Given the description of an element on the screen output the (x, y) to click on. 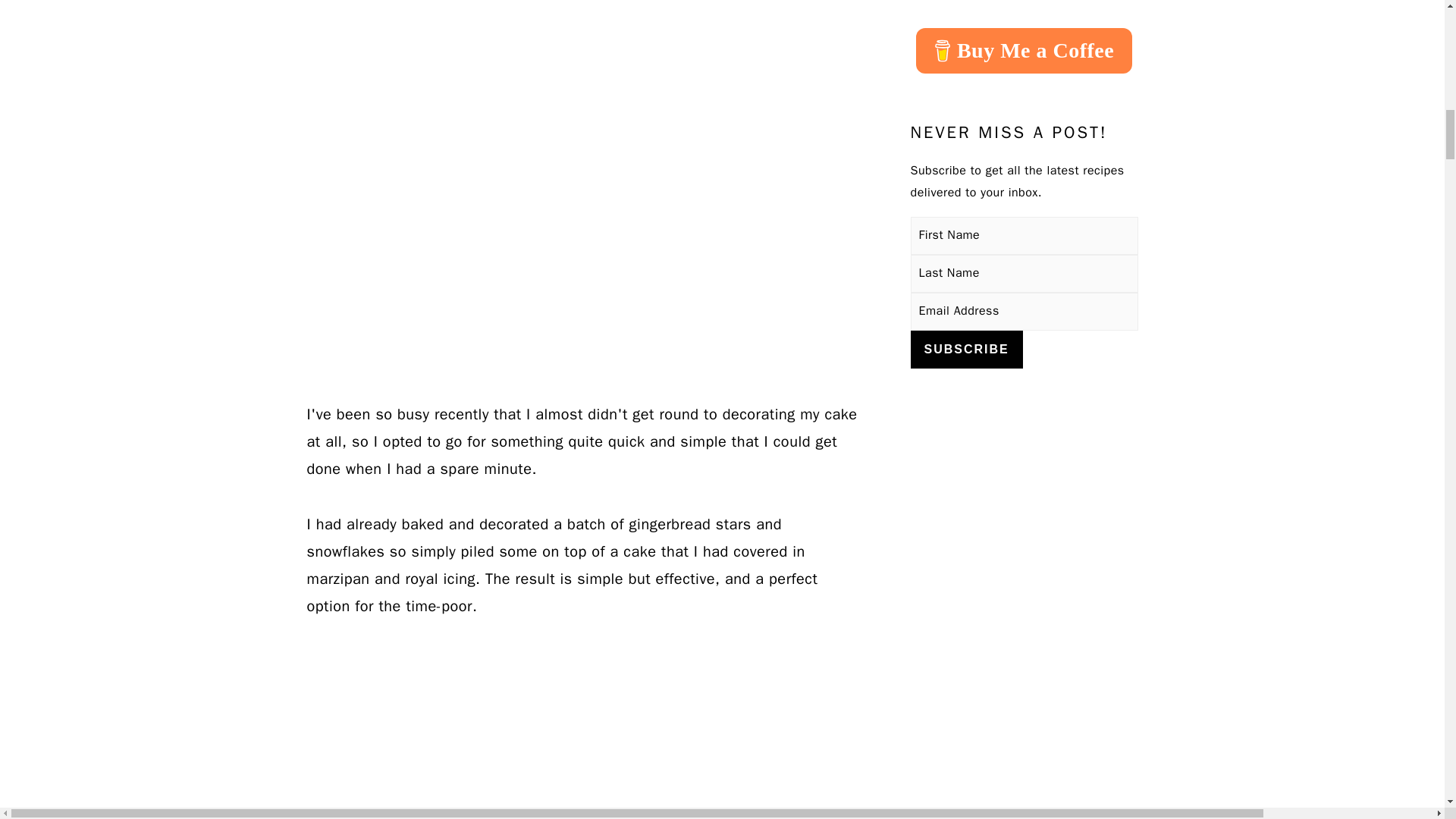
Subscribe (966, 349)
